Given the description of an element on the screen output the (x, y) to click on. 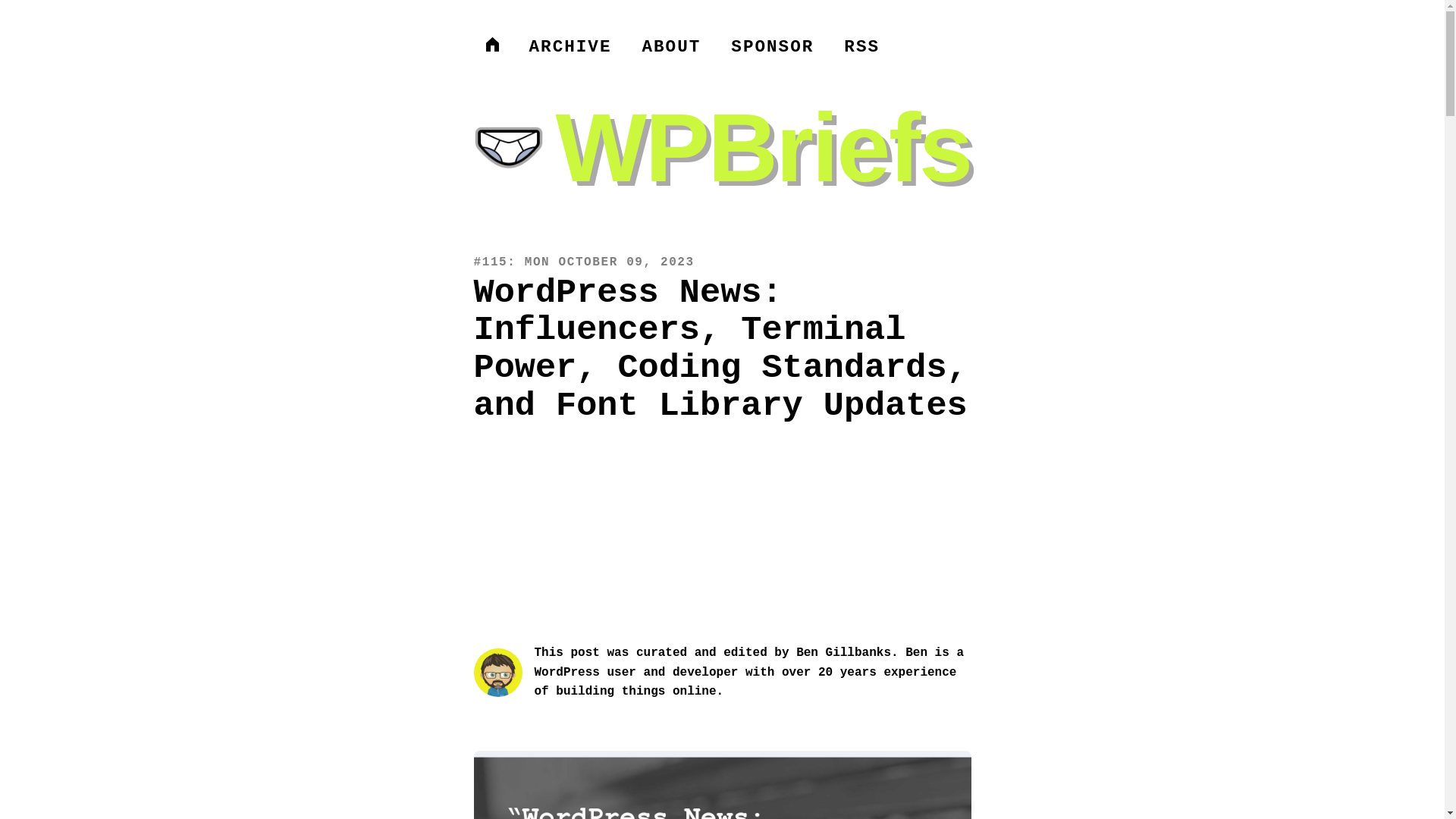
RSS (861, 46)
ARCHIVE (570, 46)
Podcast Archive (570, 46)
ABOUT (670, 46)
WPBriefs (722, 148)
SPONSOR (772, 46)
